Given the description of an element on the screen output the (x, y) to click on. 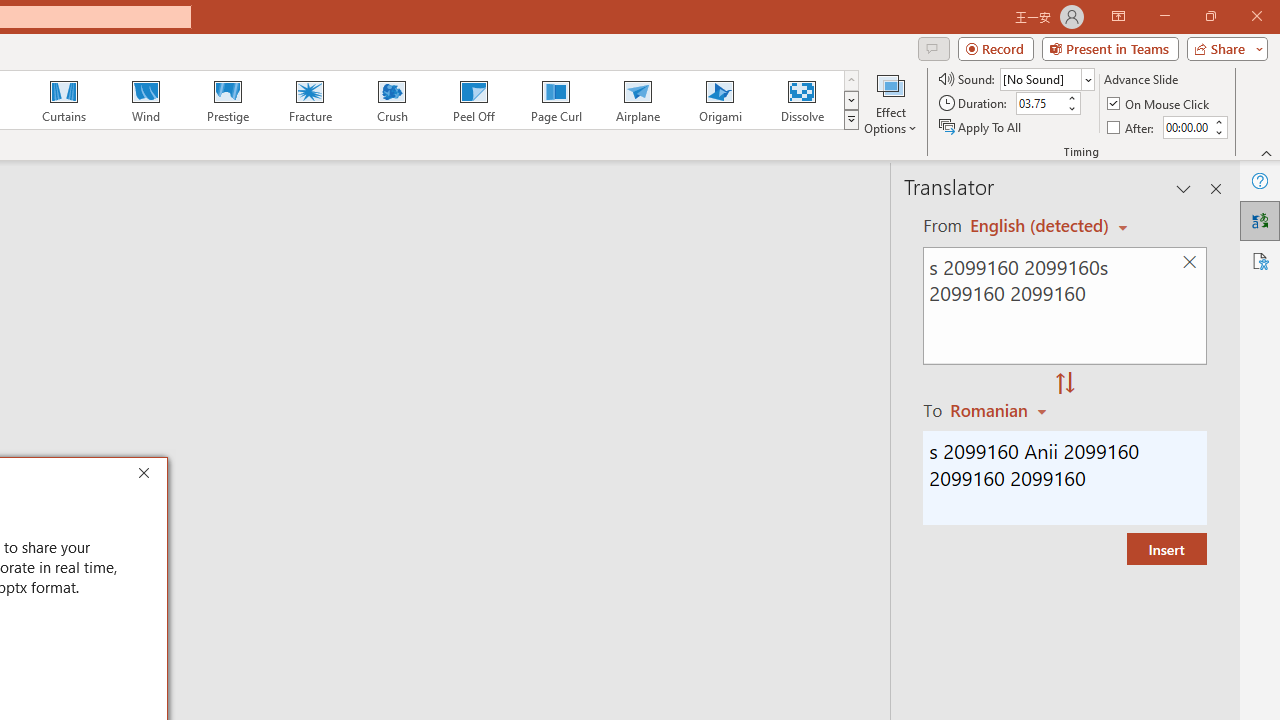
Page Curl (555, 100)
